Given the description of an element on the screen output the (x, y) to click on. 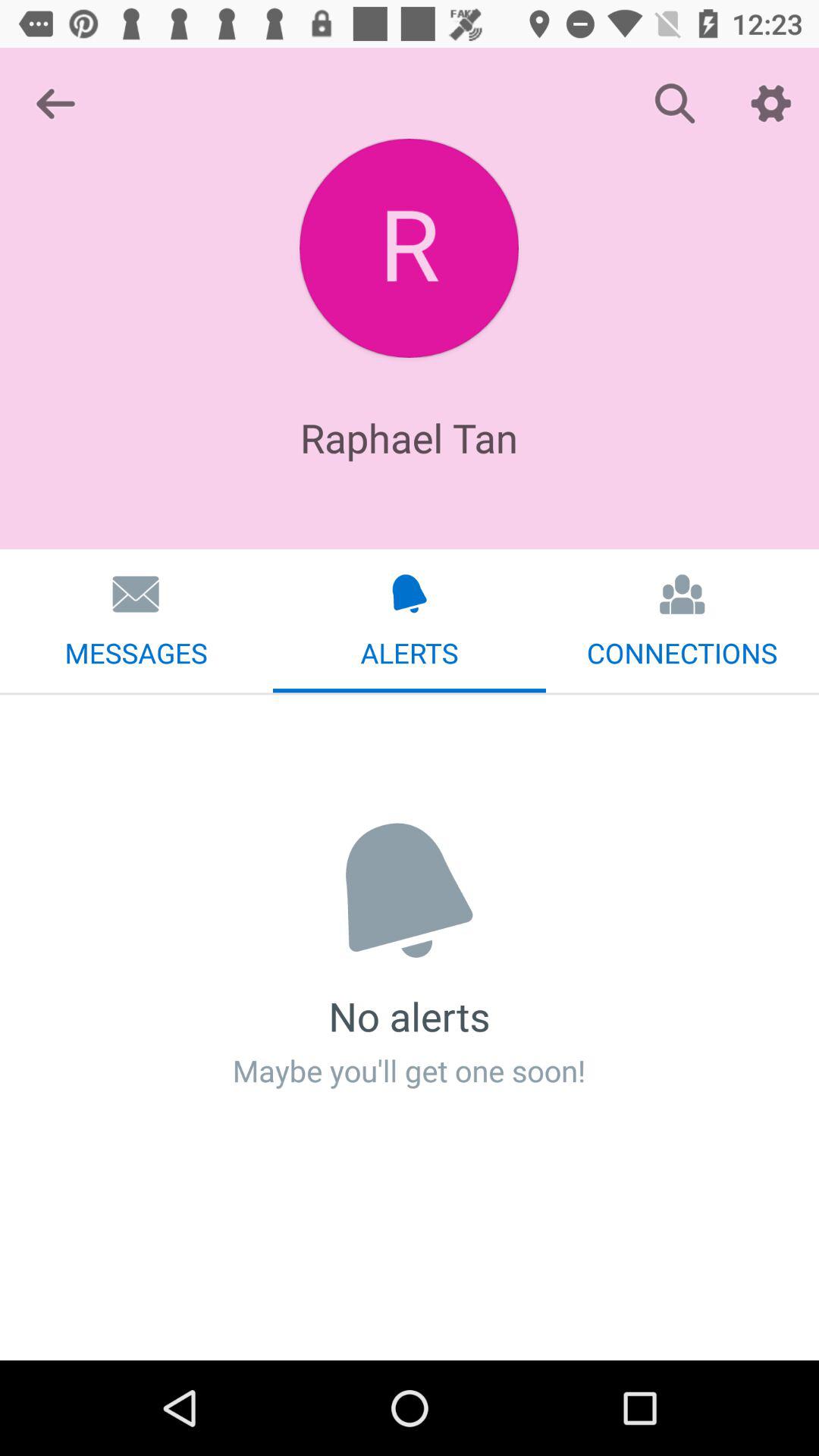
choose icon above the connections item (771, 103)
